Given the description of an element on the screen output the (x, y) to click on. 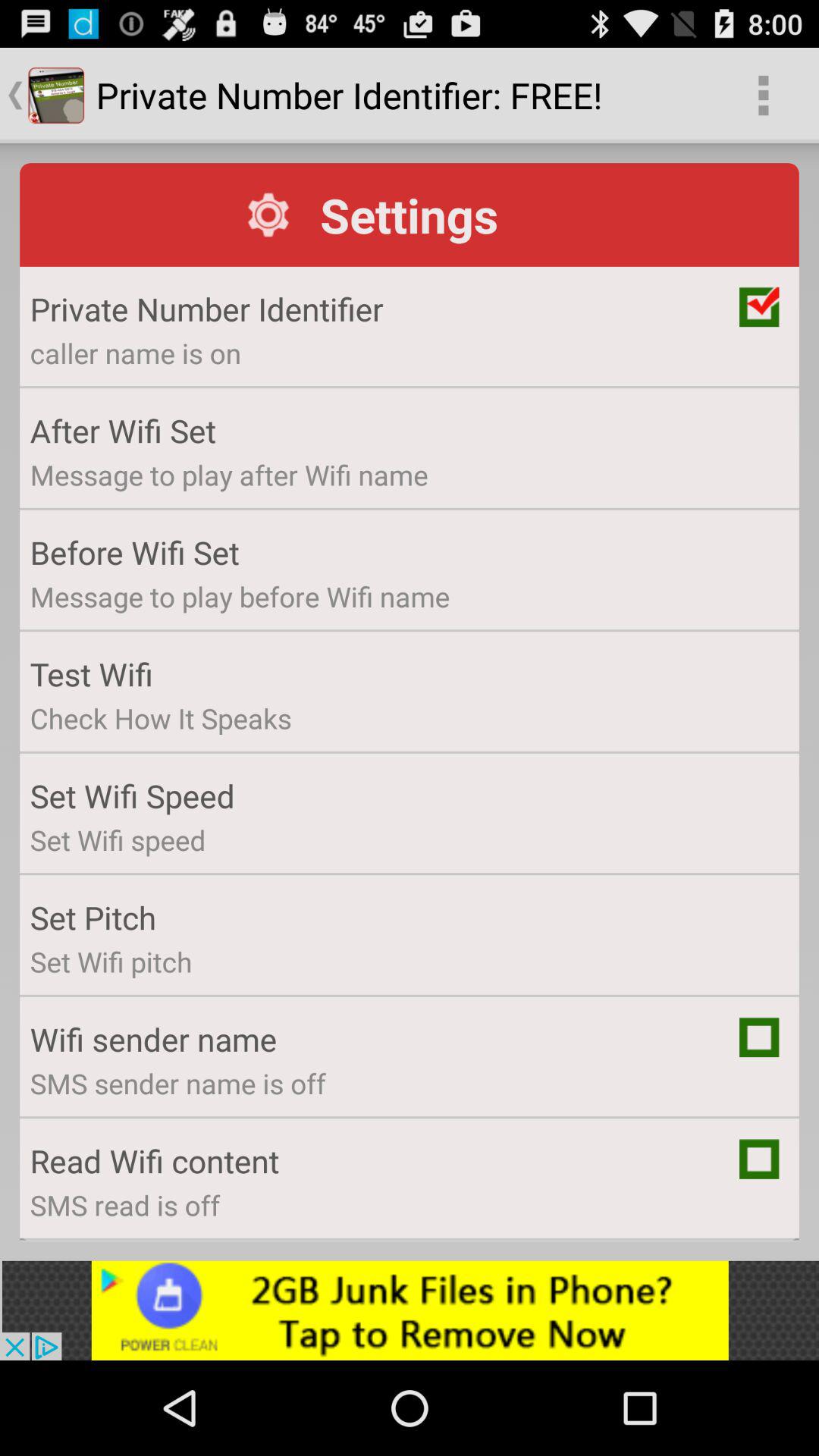
go to click option (759, 1037)
